Given the description of an element on the screen output the (x, y) to click on. 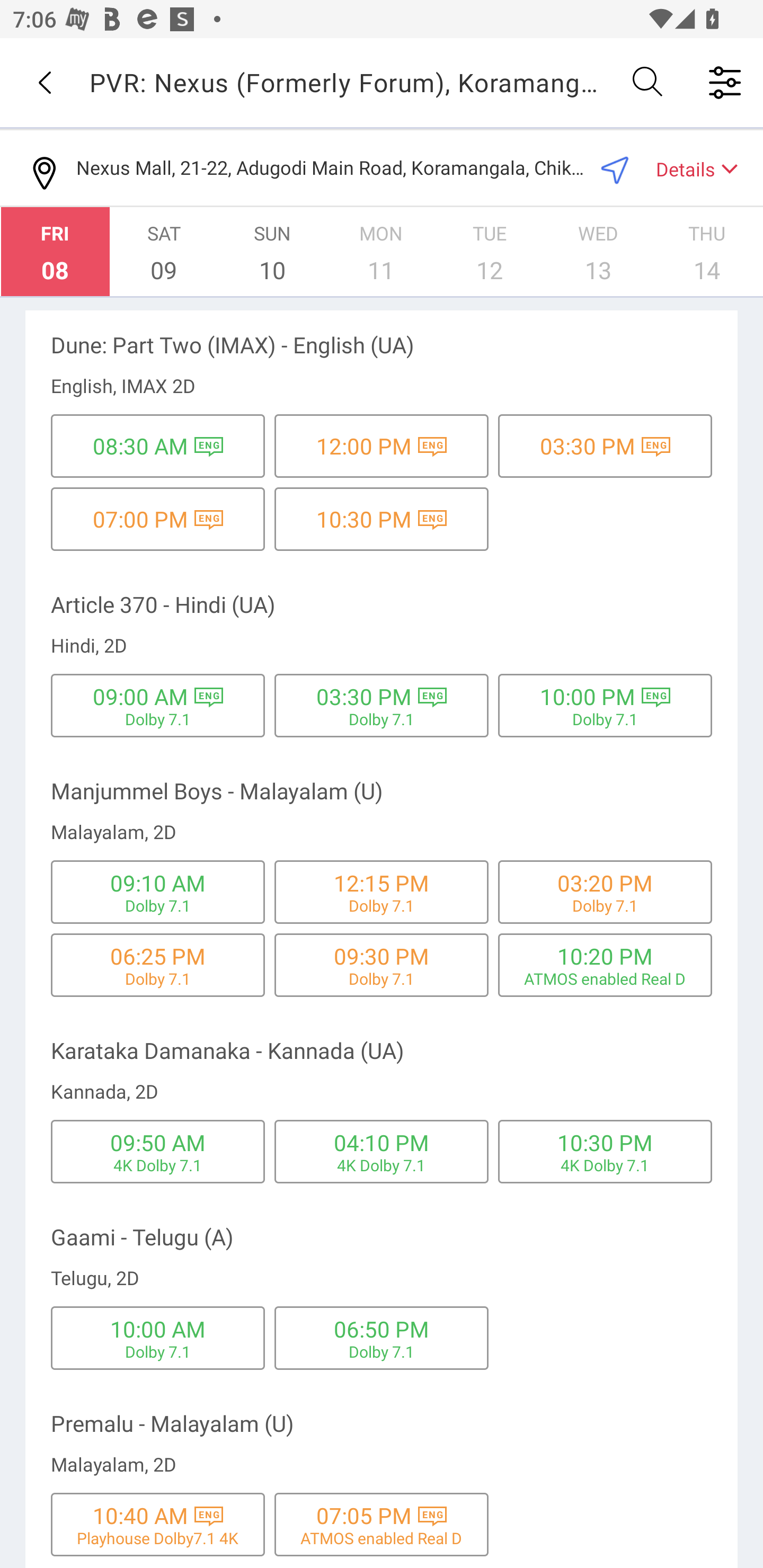
Navigate up (44, 82)
Search (648, 81)
Filter (724, 81)
Details (688, 168)
SAT 09 MAR (163, 251)
SUN 10 MAR (272, 251)
MON 11 MAR (380, 251)
TUE 12 MAR (489, 251)
WED 13 MAR (598, 251)
THU 14 MAR (707, 251)
08:30 AM (140, 445)
12:00 PM (364, 445)
03:30 PM (587, 445)
07:00 PM (140, 518)
10:30 PM (364, 518)
09:00 AM (140, 695)
03:30 PM (364, 695)
10:00 PM (587, 695)
Dolby 7.1 (157, 719)
Dolby 7.1 (381, 719)
Dolby 7.1 (604, 719)
09:10 AM (157, 882)
12:15 PM (381, 882)
03:20 PM (605, 882)
Dolby 7.1 (157, 905)
Dolby 7.1 (381, 905)
Dolby 7.1 (604, 905)
06:25 PM (157, 955)
09:30 PM (381, 955)
10:20 PM (605, 955)
Dolby 7.1 (157, 978)
Dolby 7.1 (381, 978)
ATMOS enabled Real D (604, 978)
09:50 AM (157, 1142)
04:10 PM (381, 1142)
10:30 PM (605, 1142)
4K Dolby 7.1 (157, 1165)
4K Dolby 7.1 (381, 1165)
4K Dolby 7.1 (604, 1165)
10:00 AM (157, 1328)
06:50 PM (381, 1328)
Dolby 7.1 (157, 1351)
Dolby 7.1 (381, 1351)
10:40 AM (140, 1515)
07:05 PM (364, 1515)
Playhouse Dolby7.1 4K (157, 1538)
ATMOS enabled Real D (381, 1538)
